Given the description of an element on the screen output the (x, y) to click on. 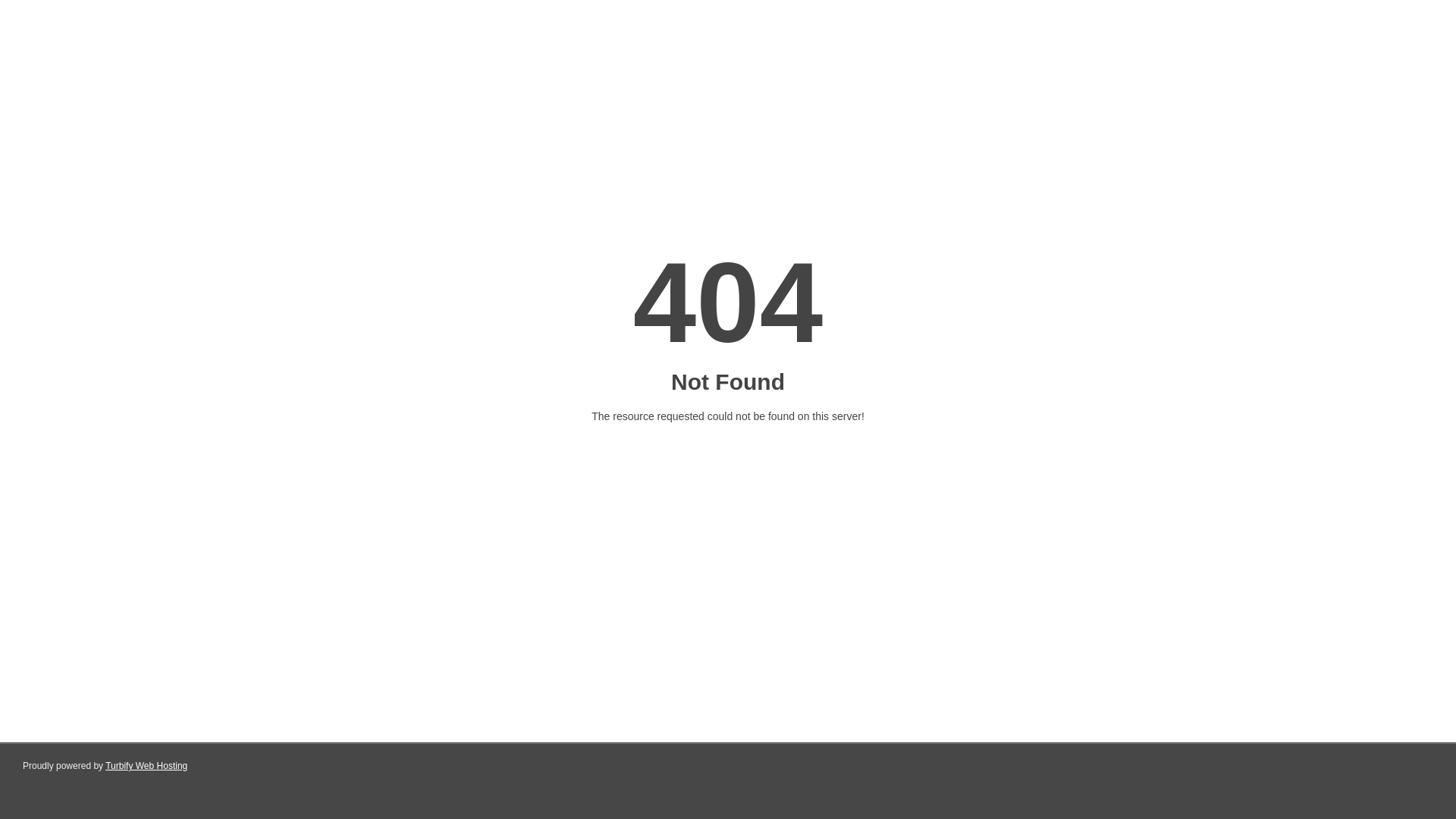
Turbify Web Hosting Element type: text (146, 765)
